Given the description of an element on the screen output the (x, y) to click on. 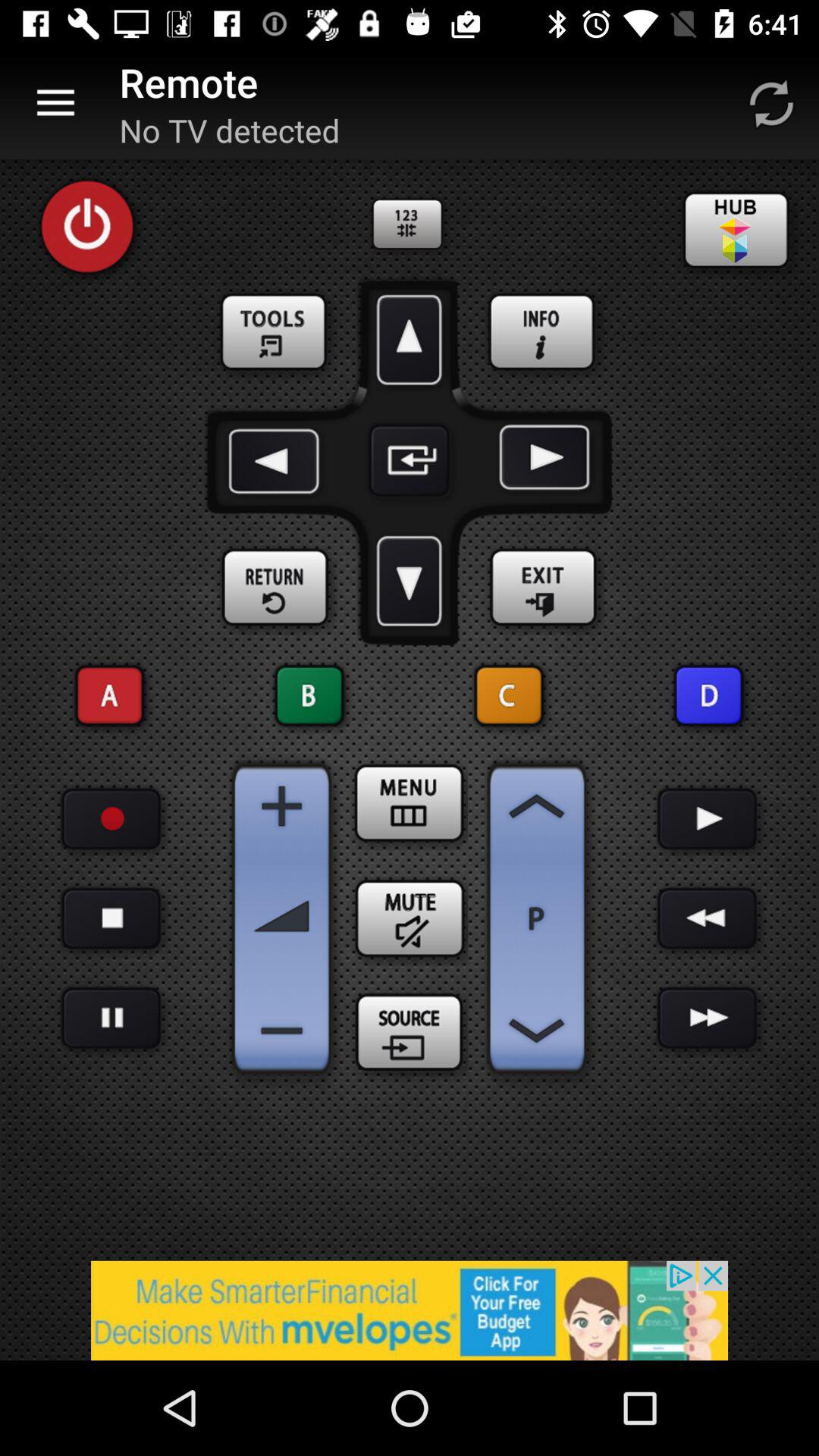
go to d button (708, 695)
